Given the description of an element on the screen output the (x, y) to click on. 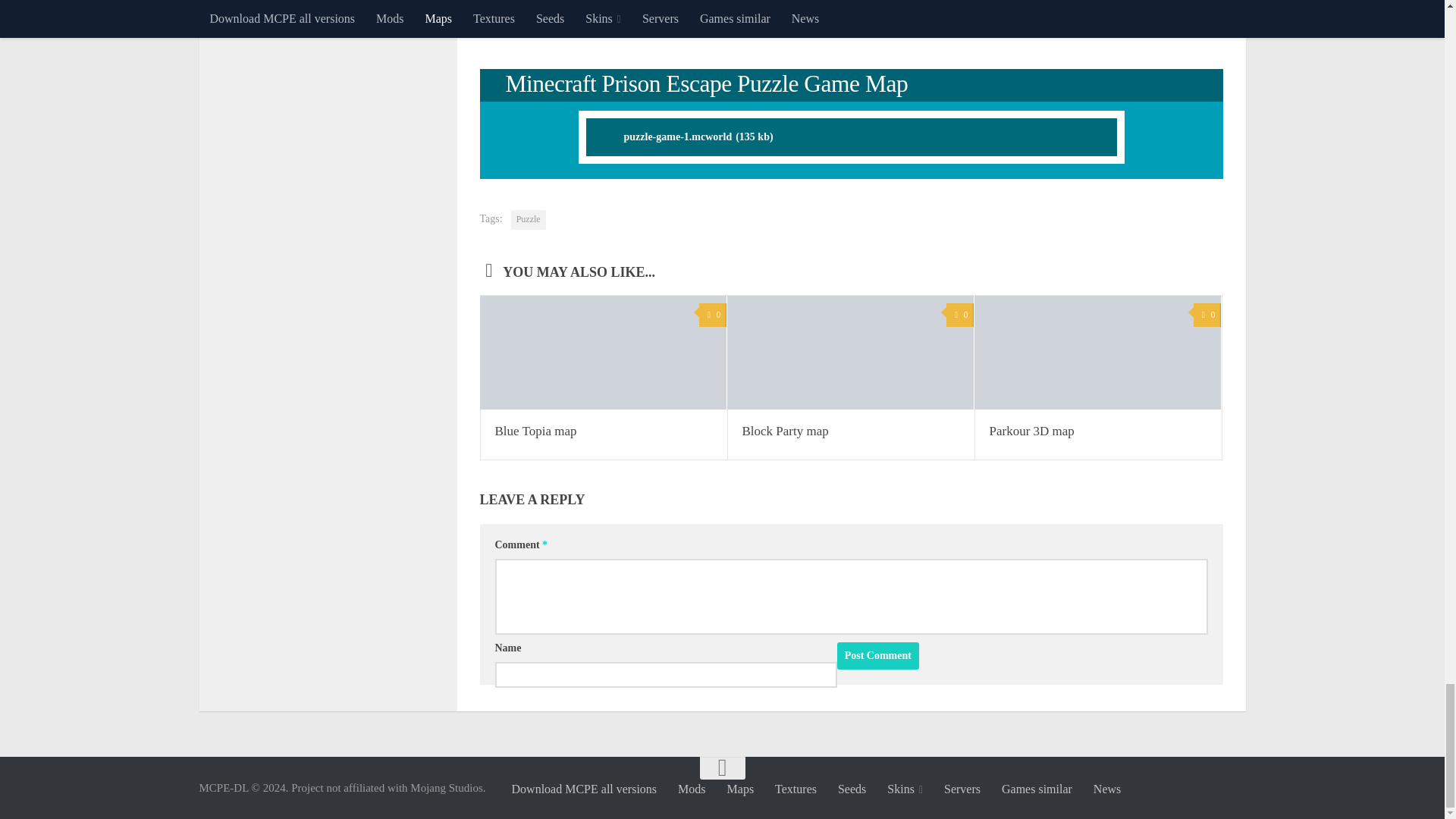
Permalink to Blue Topia map (535, 431)
Permalink to Block Party map (784, 431)
Post Comment (877, 655)
